Given the description of an element on the screen output the (x, y) to click on. 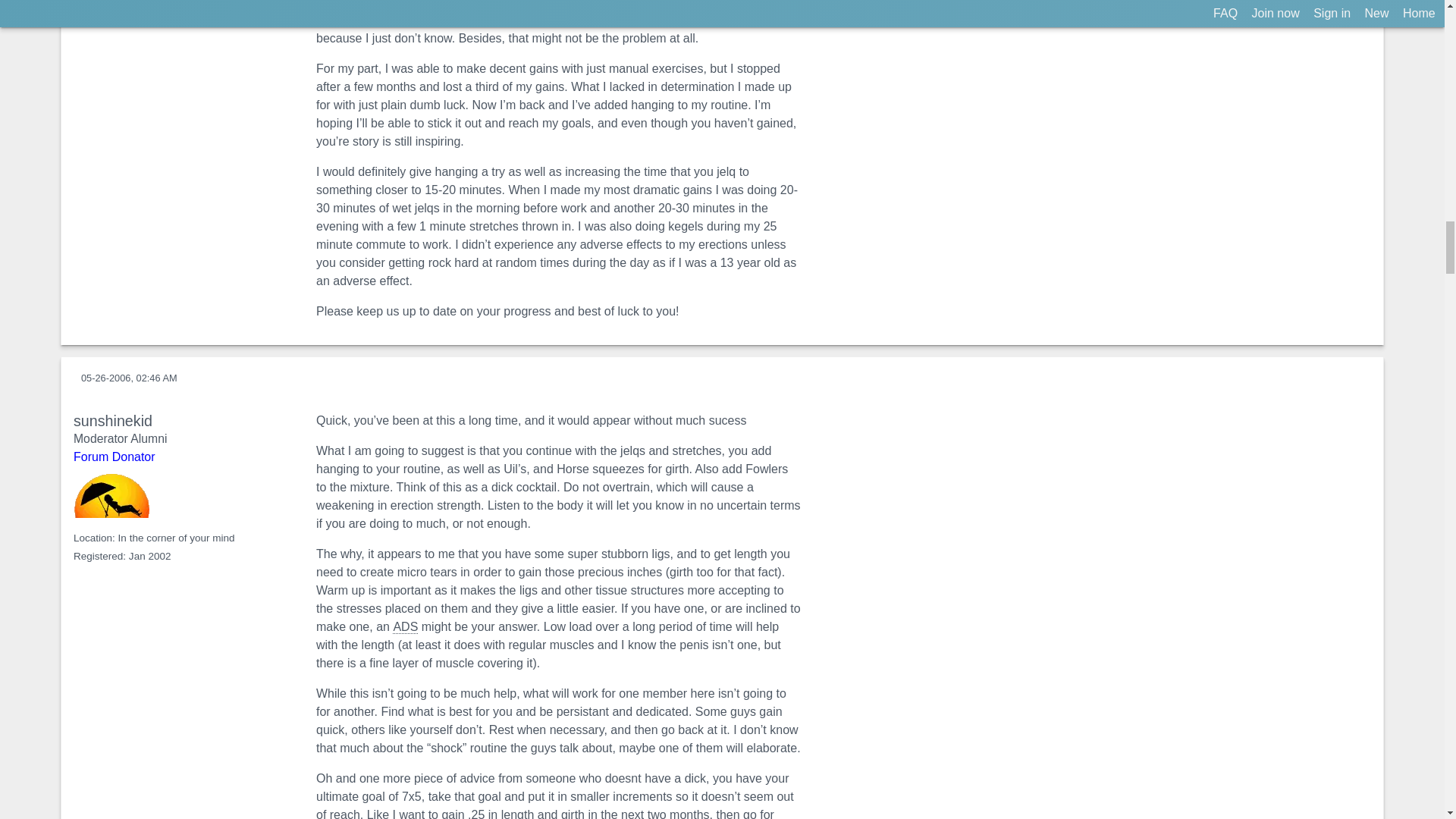
All Day Stretcher (405, 626)
